Given the description of an element on the screen output the (x, y) to click on. 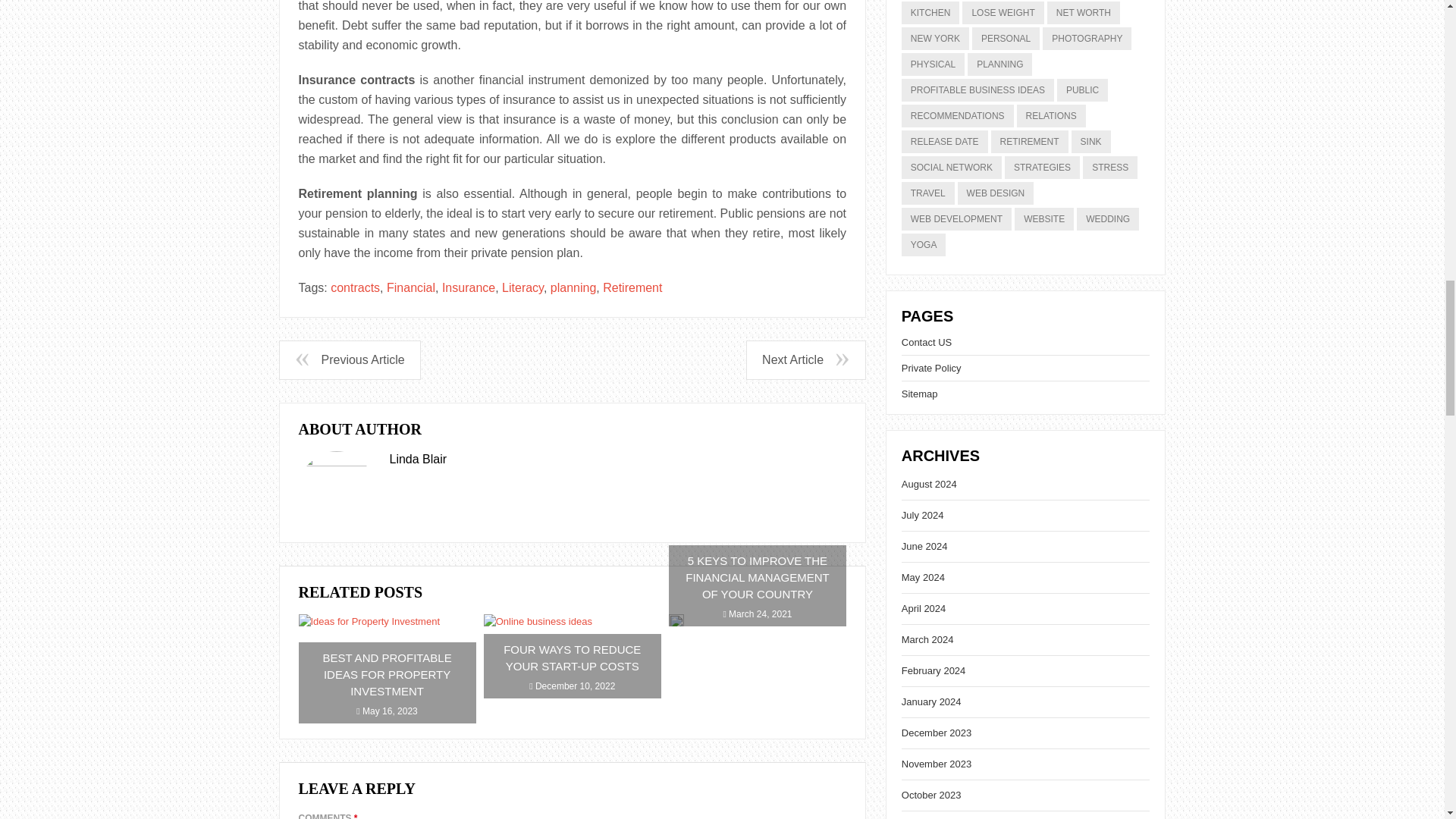
Retirement (632, 287)
planning (573, 287)
Literacy (522, 287)
Insurance (468, 287)
Financial (411, 287)
Previous Article (349, 360)
Next Article (805, 360)
contracts (355, 287)
